Given the description of an element on the screen output the (x, y) to click on. 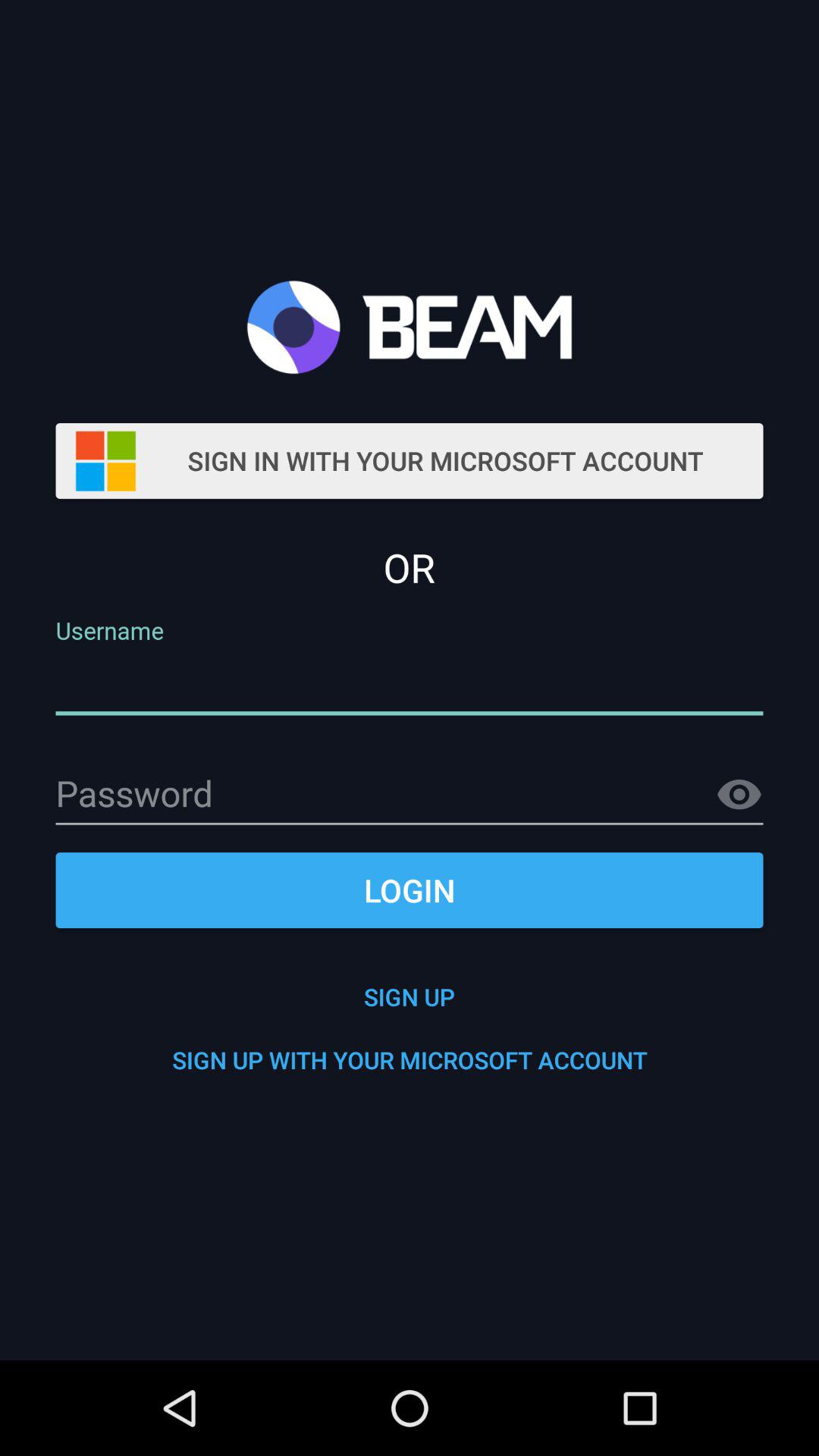
go to see option (739, 795)
